Given the description of an element on the screen output the (x, y) to click on. 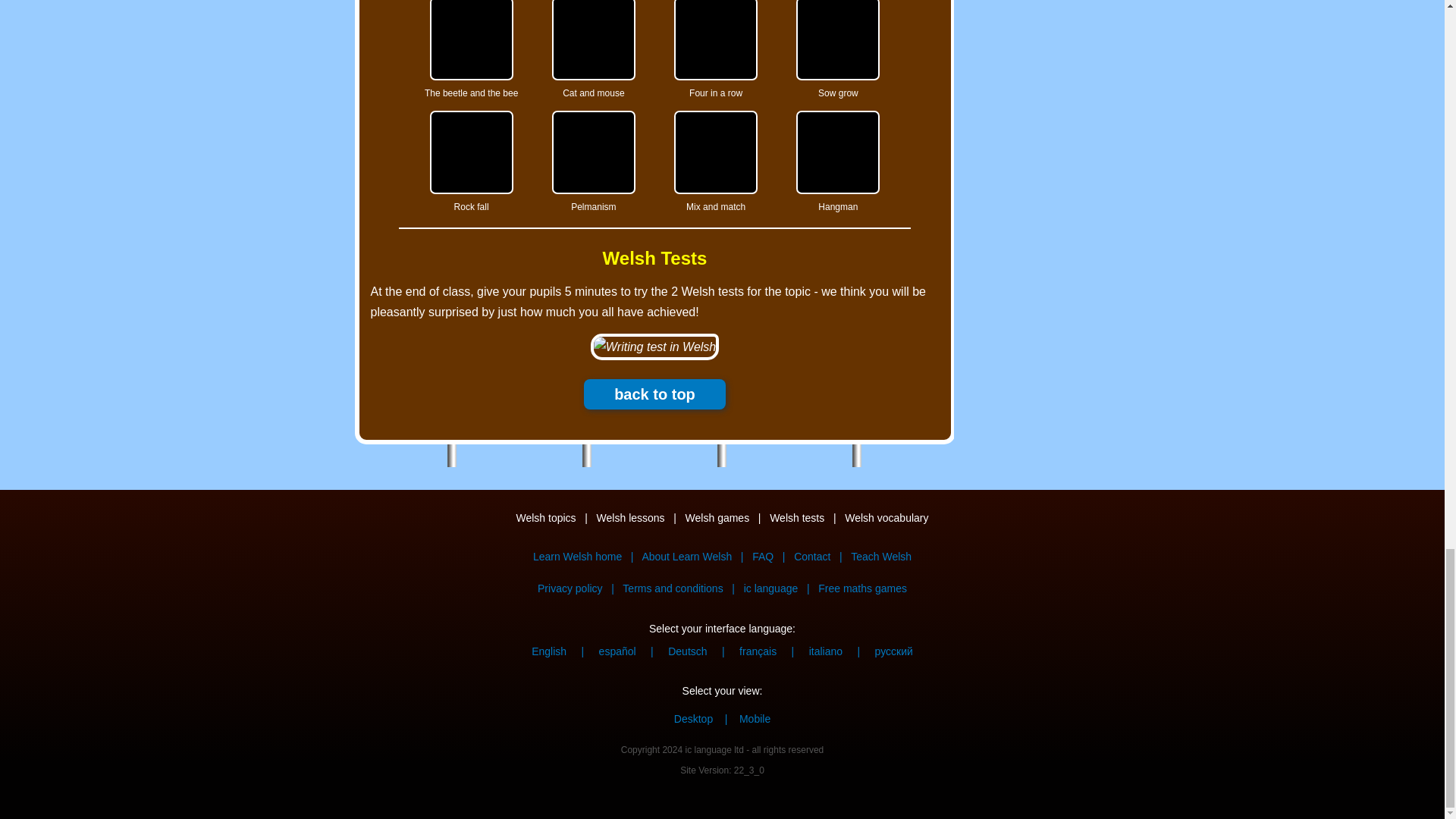
Rock fall (471, 152)
Pelmanism (592, 152)
Mix and match (715, 152)
Four in a row (715, 40)
back to top (654, 394)
Cat and mouse (592, 40)
Hangman (837, 152)
Sow grow (837, 40)
The beetle and the bee (471, 40)
Welsh Tests (654, 258)
